Given the description of an element on the screen output the (x, y) to click on. 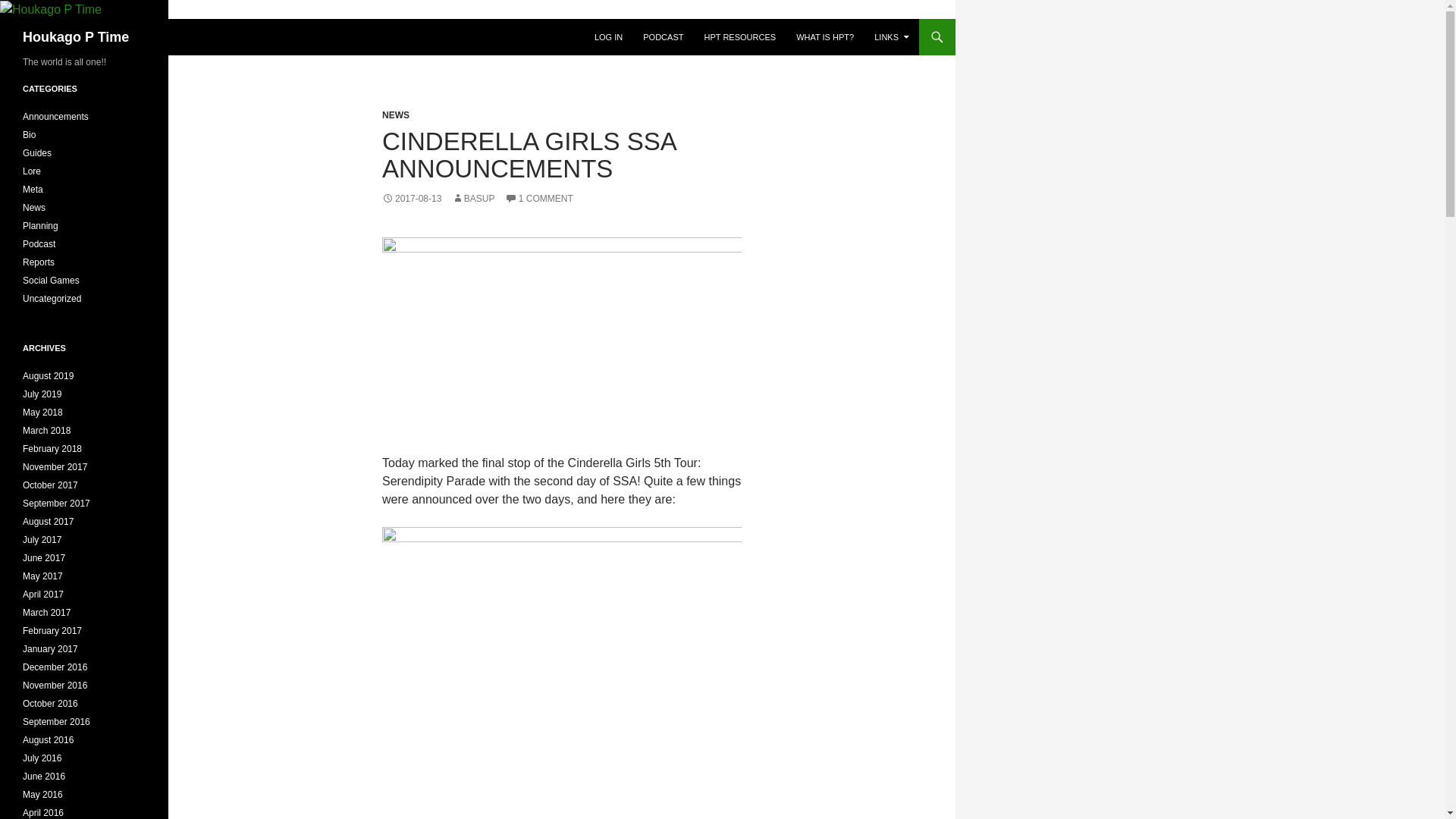
Meta (33, 189)
Houkago P Time (76, 36)
HPT RESOURCES (740, 36)
NEWS (395, 114)
2017-08-13 (411, 198)
Announcements (55, 116)
Social Games (51, 280)
Bio (28, 134)
Podcast (39, 244)
Guides (36, 153)
